Given the description of an element on the screen output the (x, y) to click on. 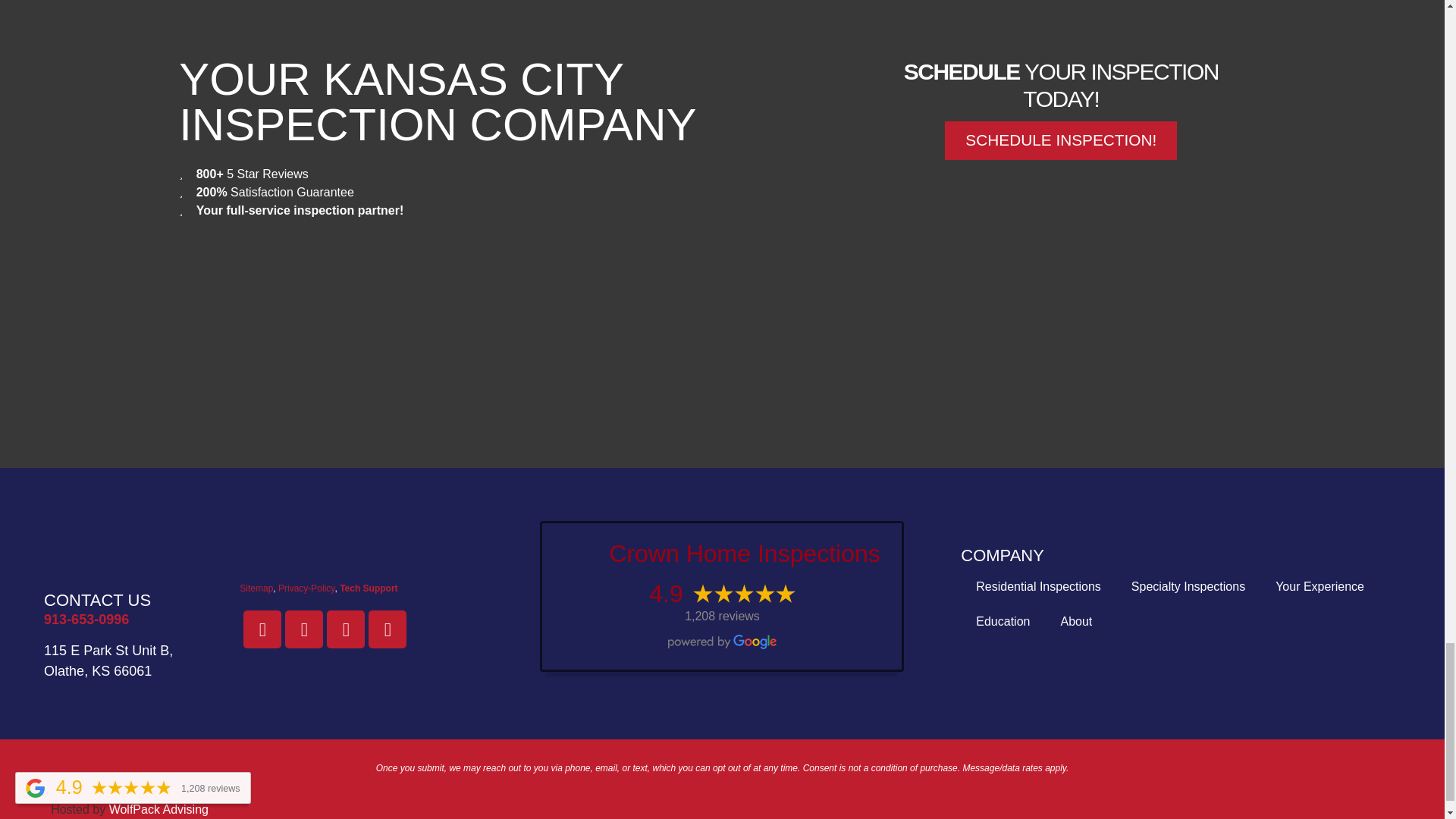
Powered by Google (722, 641)
